Given the description of an element on the screen output the (x, y) to click on. 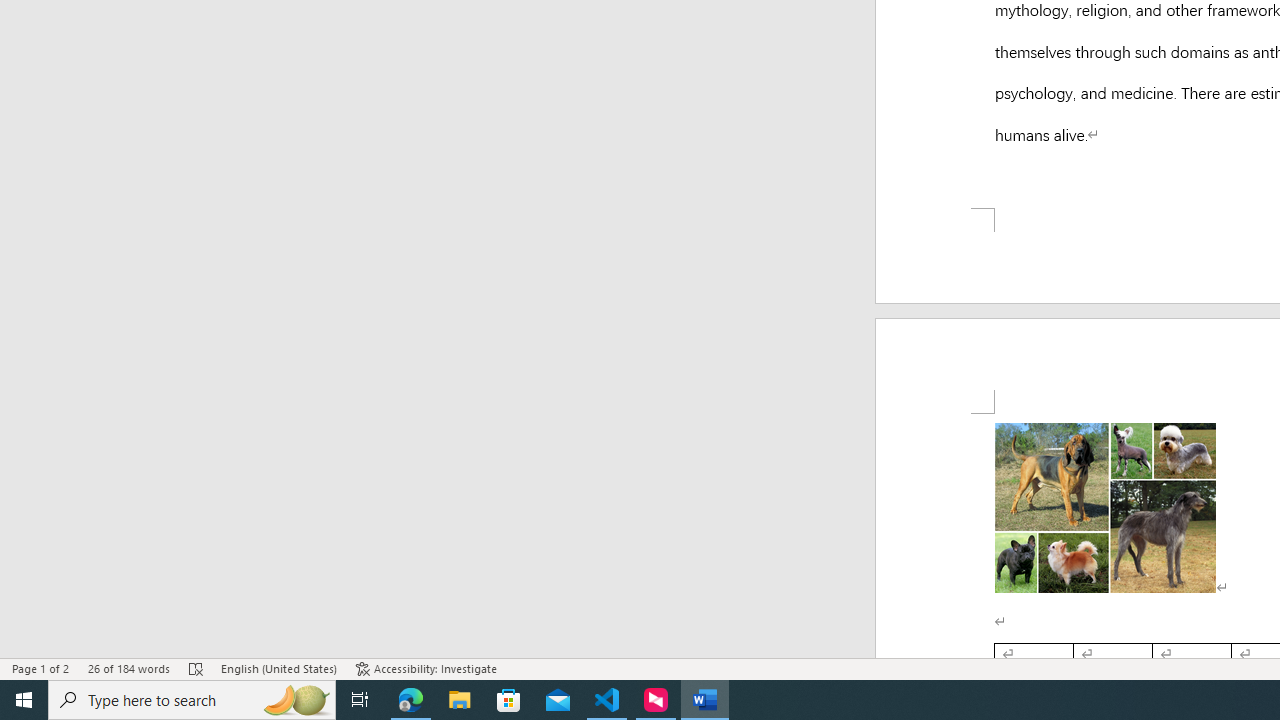
Morphological variation in six dogs (1105, 105)
Page Number Page 1 of 2 (39, 668)
Spelling and Grammar Check Errors (196, 668)
